Given the description of an element on the screen output the (x, y) to click on. 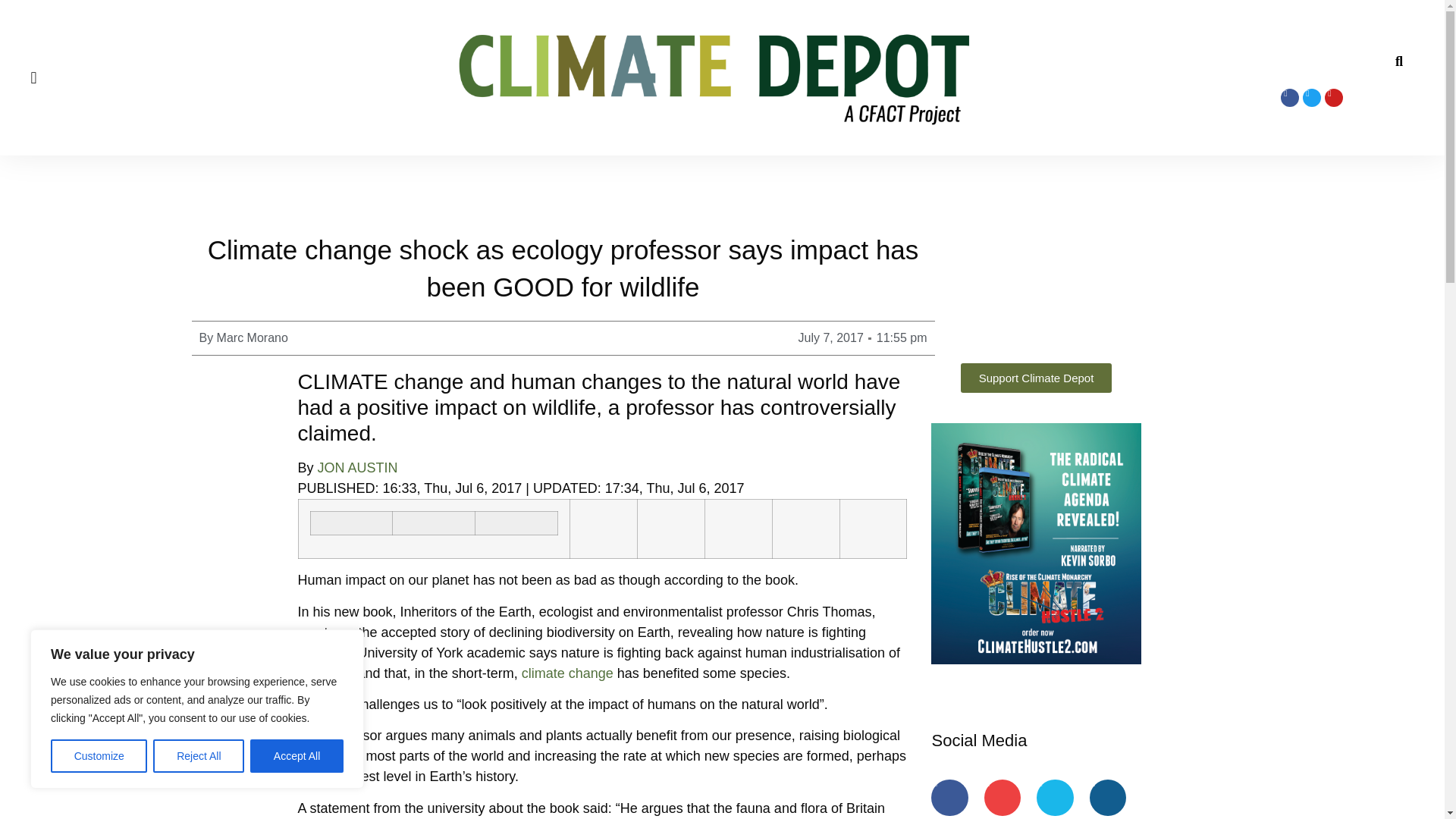
Support Climate Depot (1036, 378)
Customize (98, 756)
Recommend this on Facebook (432, 523)
July 7, 2017 (830, 338)
By Marc Morano (242, 338)
climate change (566, 672)
JON AUSTIN (357, 467)
Reject All (198, 756)
Accept All (296, 756)
